Given the description of an element on the screen output the (x, y) to click on. 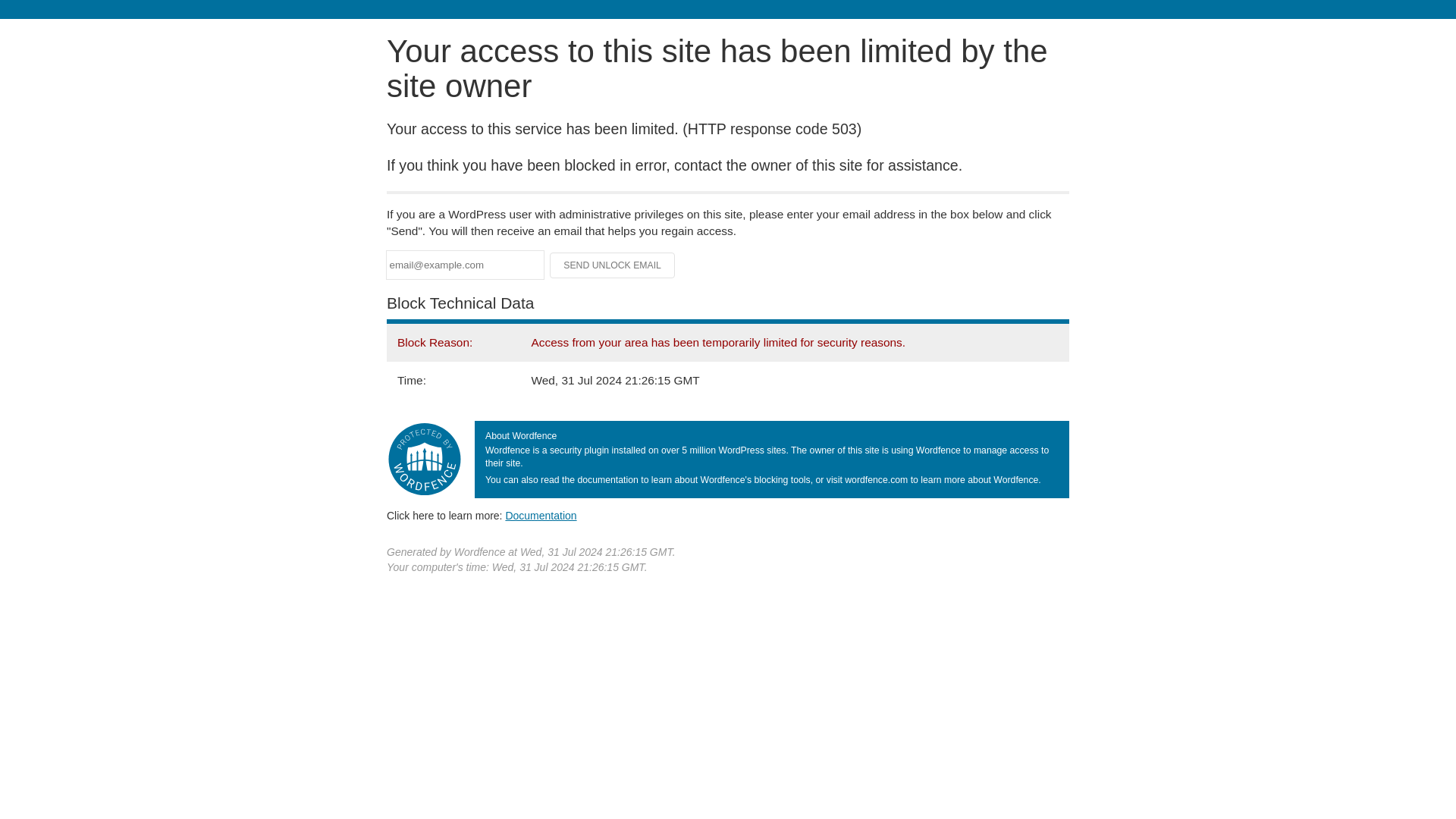
Send Unlock Email (612, 265)
Send Unlock Email (612, 265)
Documentation (540, 515)
